Given the description of an element on the screen output the (x, y) to click on. 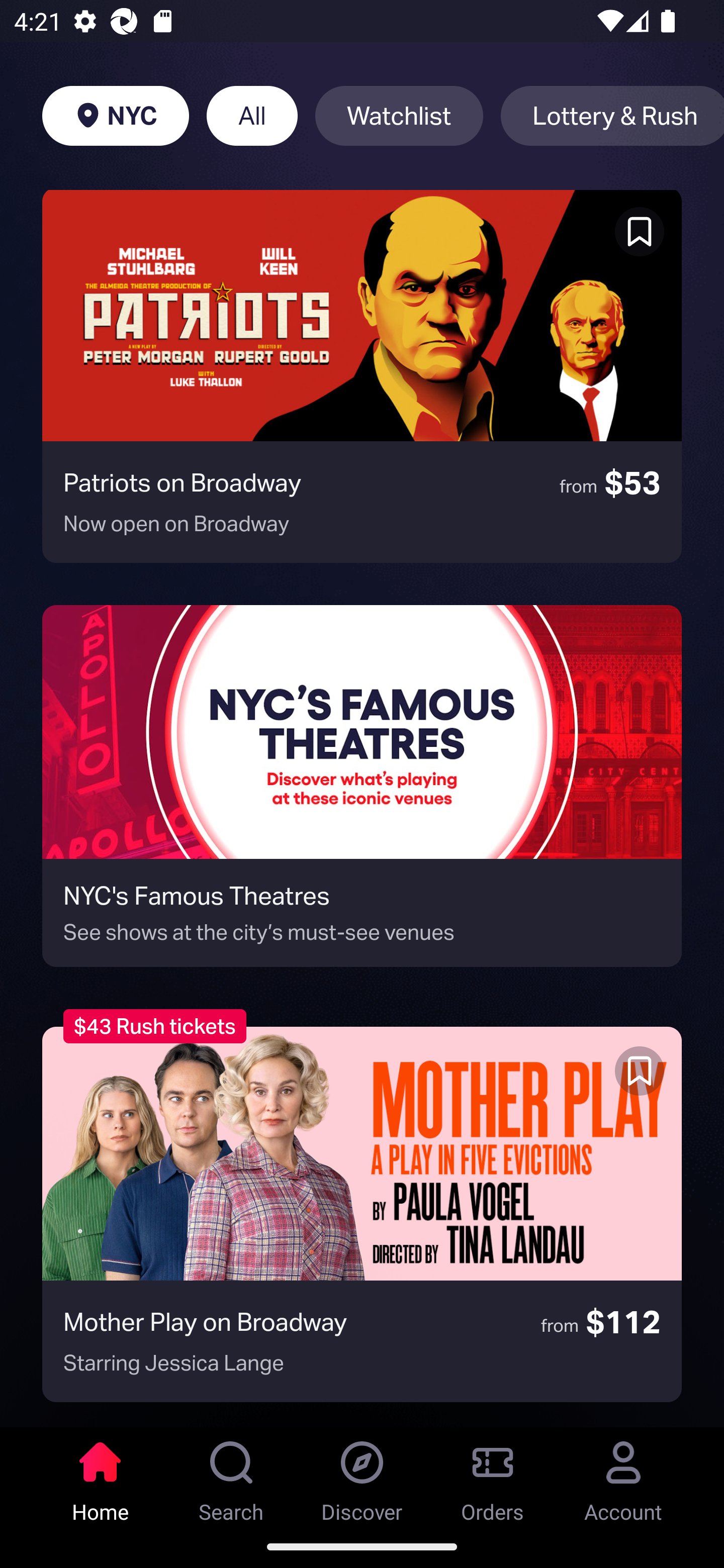
NYC (114, 115)
All (251, 115)
Watchlist (398, 115)
Lottery & Rush (612, 115)
Patriots on Broadway from $53 Now open on Broadway (361, 375)
Search (230, 1475)
Discover (361, 1475)
Orders (492, 1475)
Account (623, 1475)
